Given the description of an element on the screen output the (x, y) to click on. 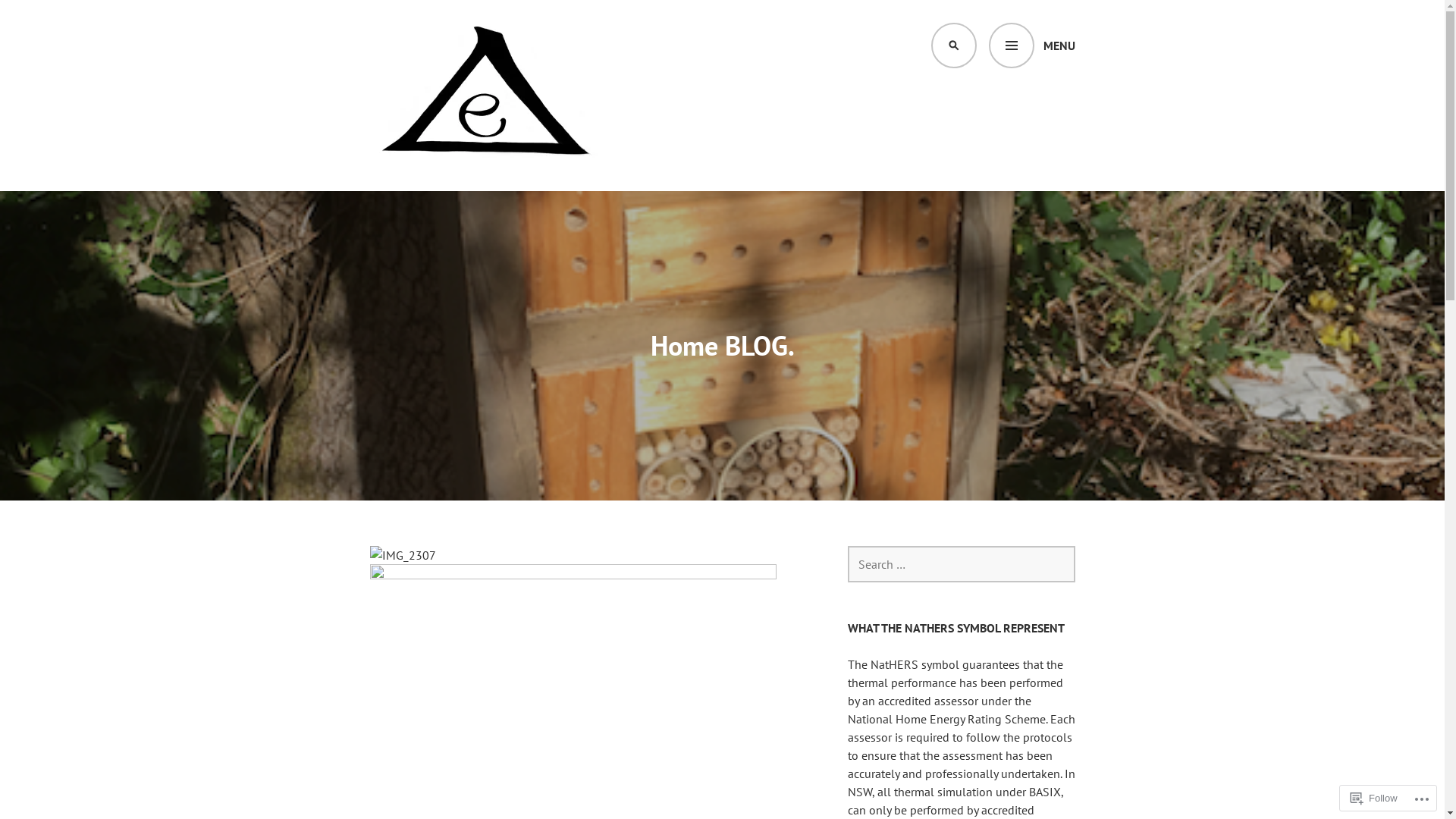
Search Element type: text (40, 18)
ECODWELLER Element type: text (450, 193)
MENU Element type: text (1031, 45)
Follow Element type: text (1373, 797)
